Given the description of an element on the screen output the (x, y) to click on. 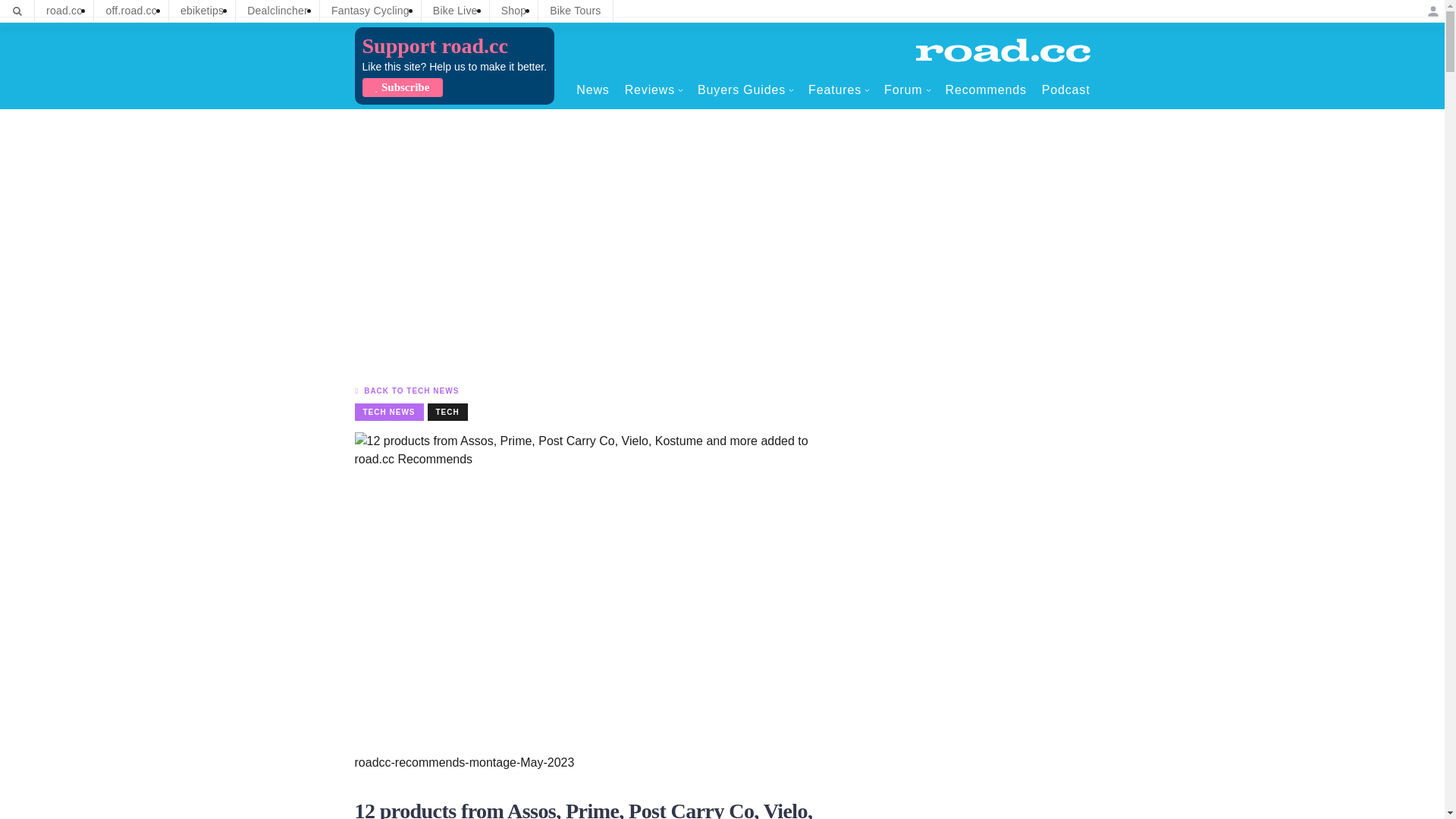
Subscribe (402, 87)
Fantasy Cycling (370, 11)
road.cc (63, 11)
ebiketips (201, 11)
Bike Live (455, 11)
Home (1002, 50)
Shop (513, 11)
Dealclincher (276, 11)
Bike Tours (574, 11)
off.road.cc (131, 11)
